Given the description of an element on the screen output the (x, y) to click on. 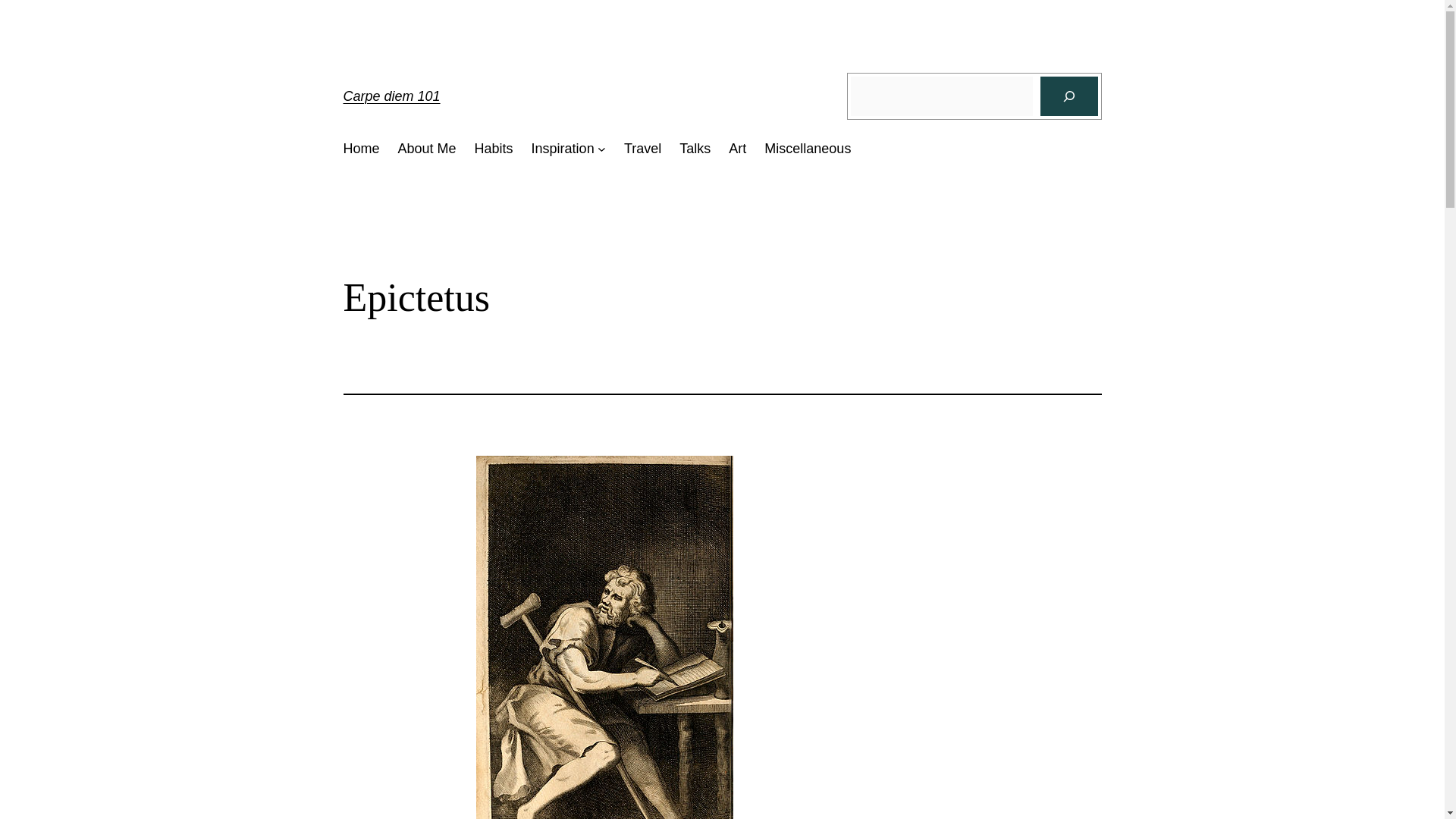
Carpe diem 101 (390, 96)
Home (360, 148)
Inspiration (562, 148)
Travel (642, 148)
Talks (694, 148)
About Me (427, 148)
Miscellaneous (807, 148)
Habits (493, 148)
